Given the description of an element on the screen output the (x, y) to click on. 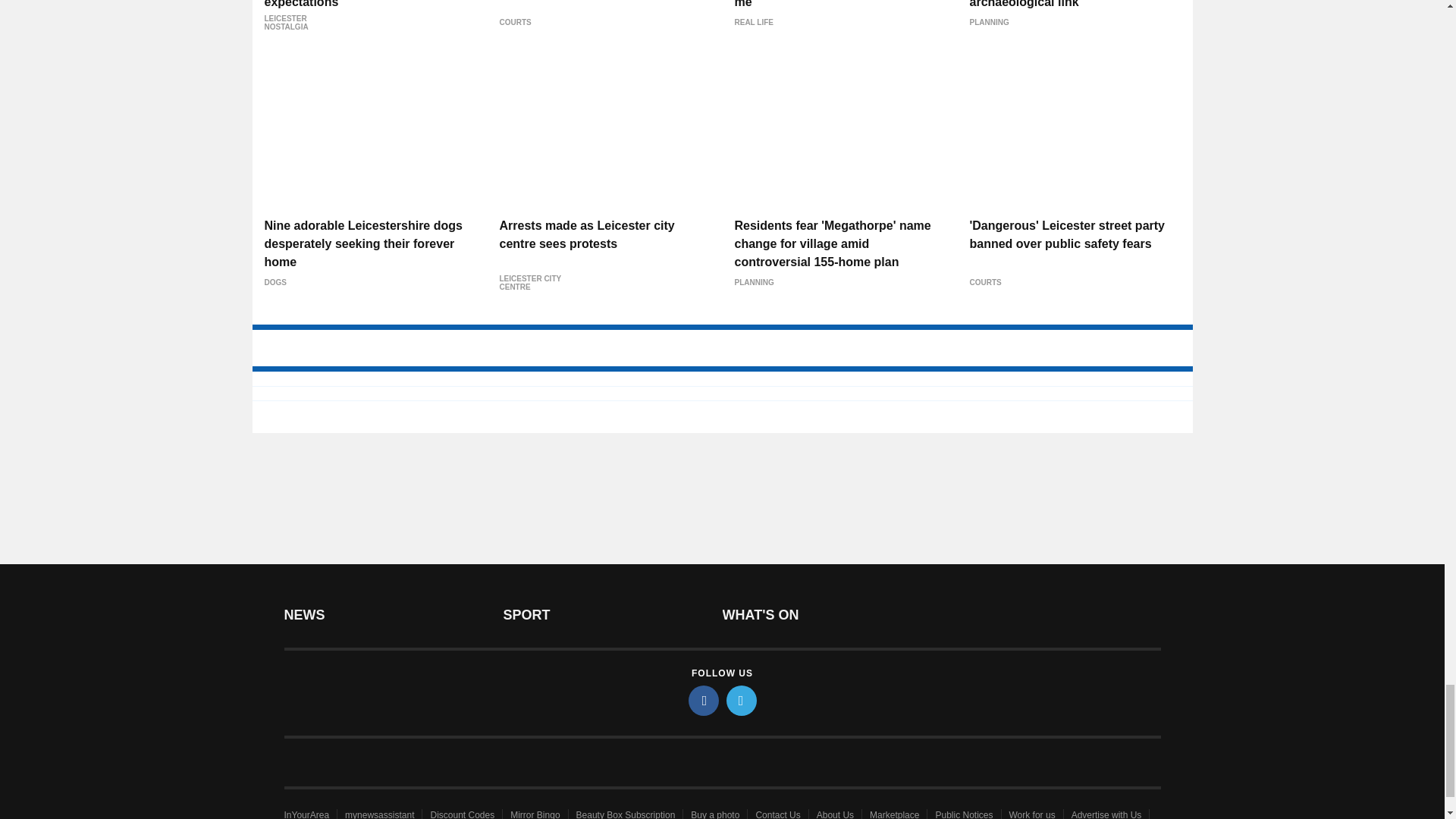
facebook (703, 700)
twitter (741, 700)
